Given the description of an element on the screen output the (x, y) to click on. 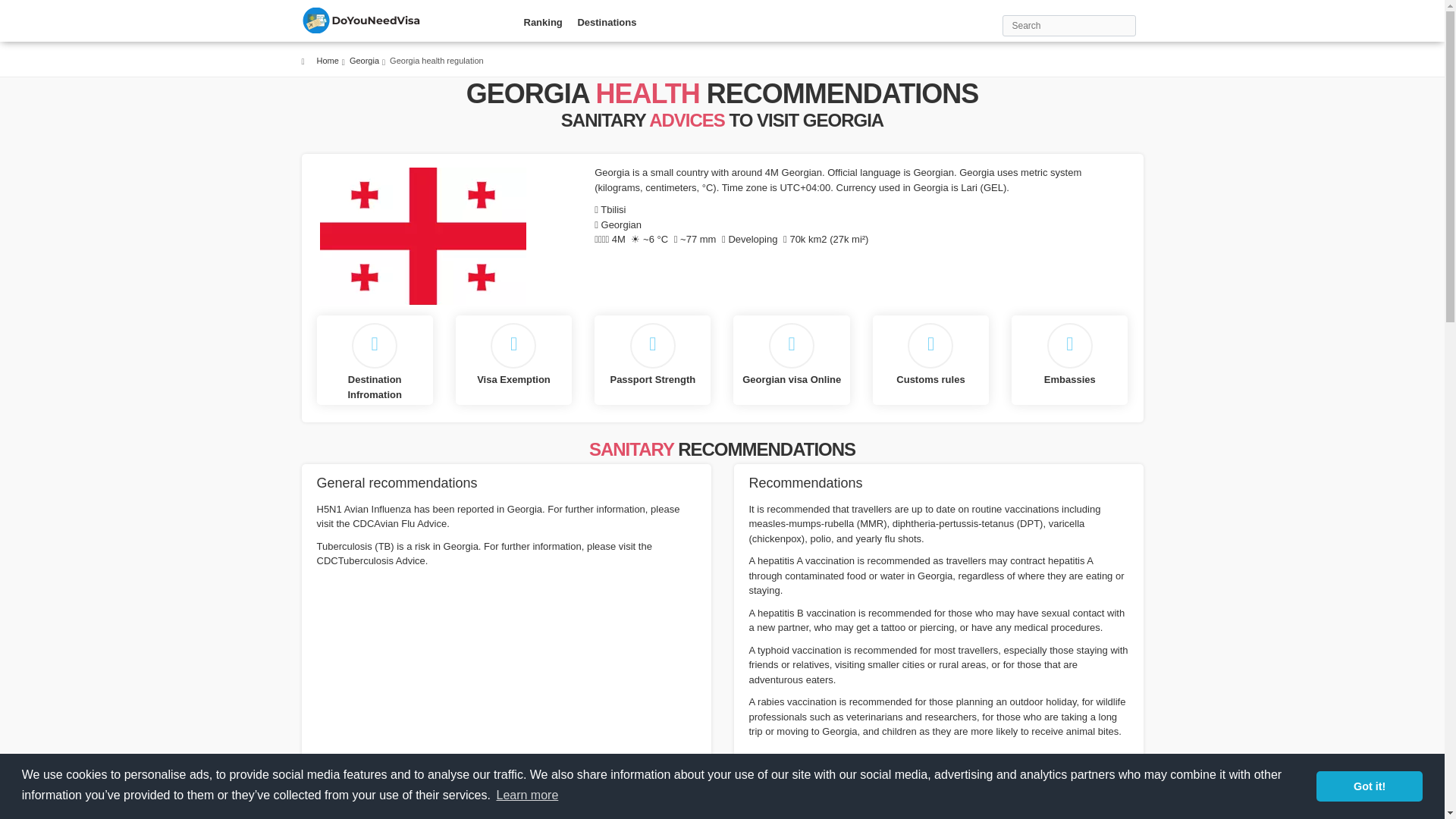
Avian Flu Advice. (354, 815)
City Tours travel template (362, 20)
City tours travel template (362, 20)
Georgia (363, 60)
Got it! (1369, 786)
Home (328, 60)
Learn more (526, 794)
Ranking (541, 28)
Destinations (606, 28)
